Given the description of an element on the screen output the (x, y) to click on. 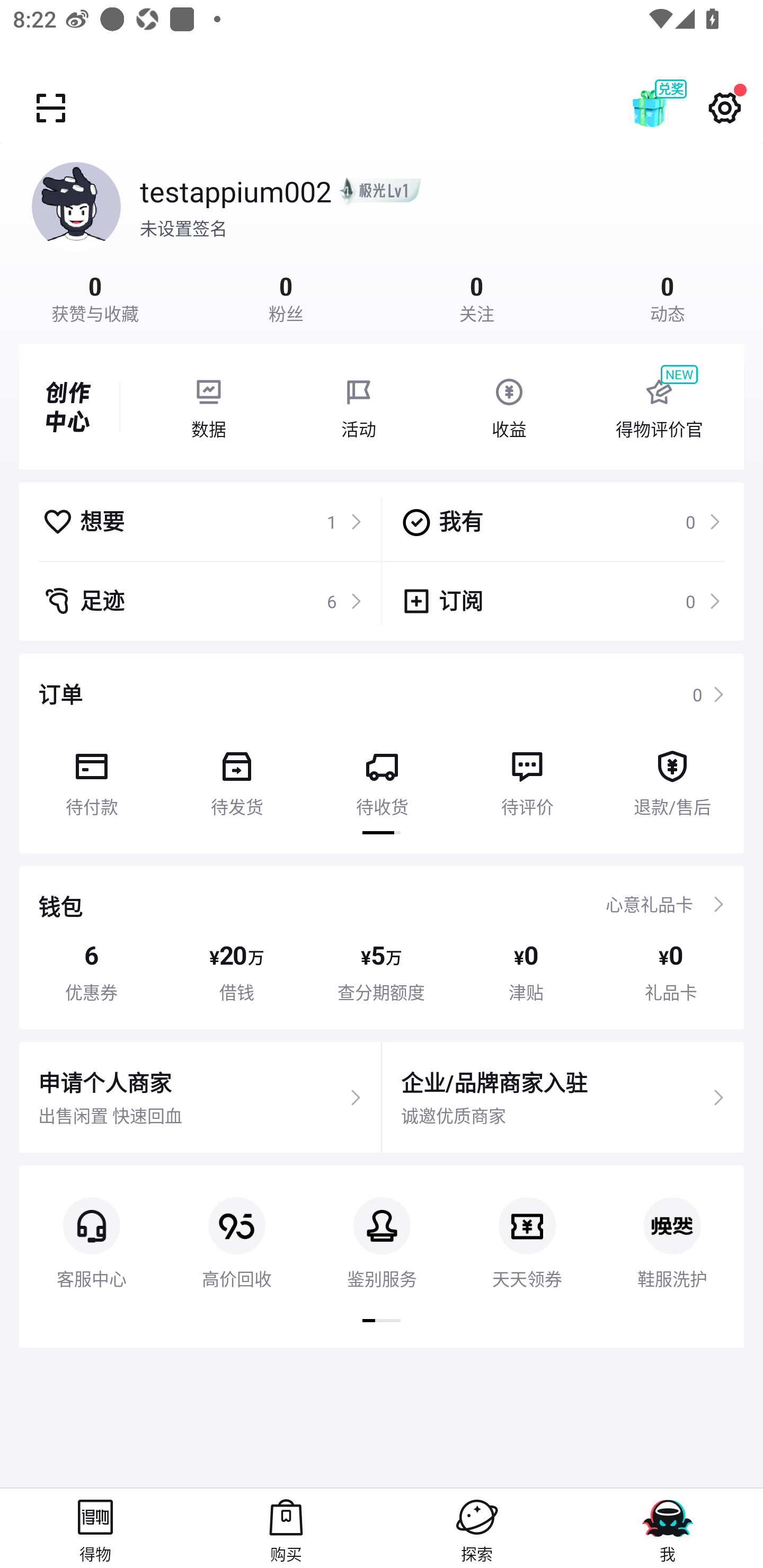
兑奖 (667, 107)
testappium002 未设置签名 0 获赞与收藏 0 粉丝 0 关注 0 动态 (381, 233)
0 获赞与收藏 (95, 296)
0 粉丝 (285, 296)
0 关注 (476, 296)
0 动态 (667, 296)
数据 (208, 406)
活动 (358, 406)
收益 (508, 406)
NEW 得物评价官 (658, 406)
想要 1 (201, 521)
我有 0 (560, 521)
足迹 6 (201, 601)
订阅 0 (560, 601)
订单 0 待付款 待发货 待收货 待评价 退款/售后 (381, 752)
待付款 (91, 776)
待发货 (236, 776)
待收货 (381, 776)
待评价 (526, 776)
退款/售后 (671, 776)
心意礼品卡 (648, 903)
6 优惠券 (91, 971)
¥ 20 万 借钱 (236, 971)
¥ 5 万 查分期额度 (381, 971)
¥ 0 津贴 (525, 971)
¥ 0 礼品卡 (670, 971)
申请个人商家 出售闲置 快速回血 (199, 1097)
企业/品牌商家入驻 诚邀优质商家 (562, 1097)
客服中心 (91, 1227)
高价回收 (236, 1227)
鉴别服务 (381, 1227)
天天领券 (526, 1227)
鞋服洗护 (671, 1227)
得物 (95, 1528)
购买 (285, 1528)
探索 (476, 1528)
我 (667, 1528)
